Given the description of an element on the screen output the (x, y) to click on. 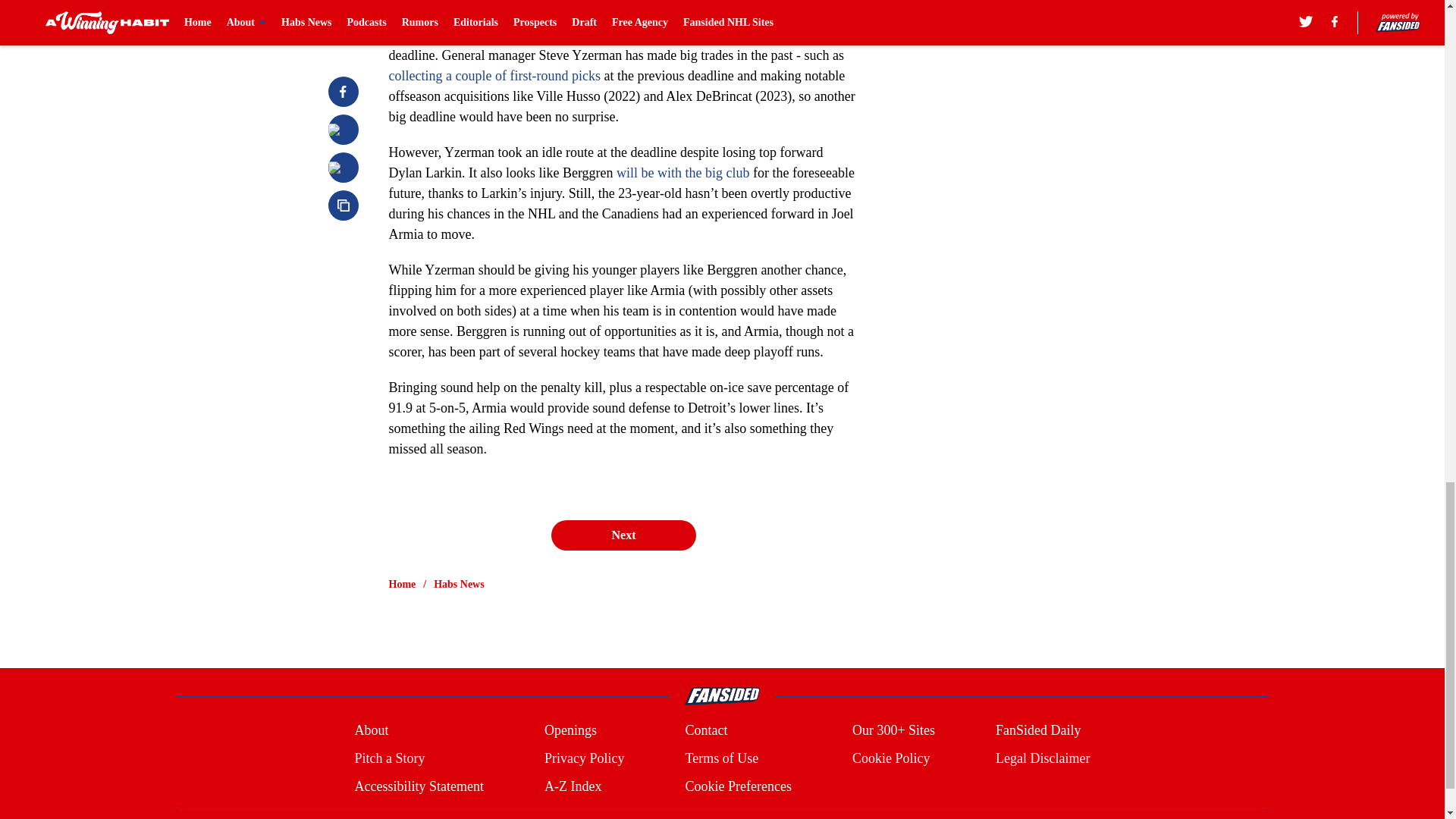
collecting a couple of first-round picks (493, 75)
About (370, 730)
Openings (570, 730)
Home (401, 584)
Contact (705, 730)
Privacy Policy (584, 758)
Habs News (458, 584)
Cookie Policy (890, 758)
Pitch a Story (389, 758)
will be with the big club (683, 172)
